Given the description of an element on the screen output the (x, y) to click on. 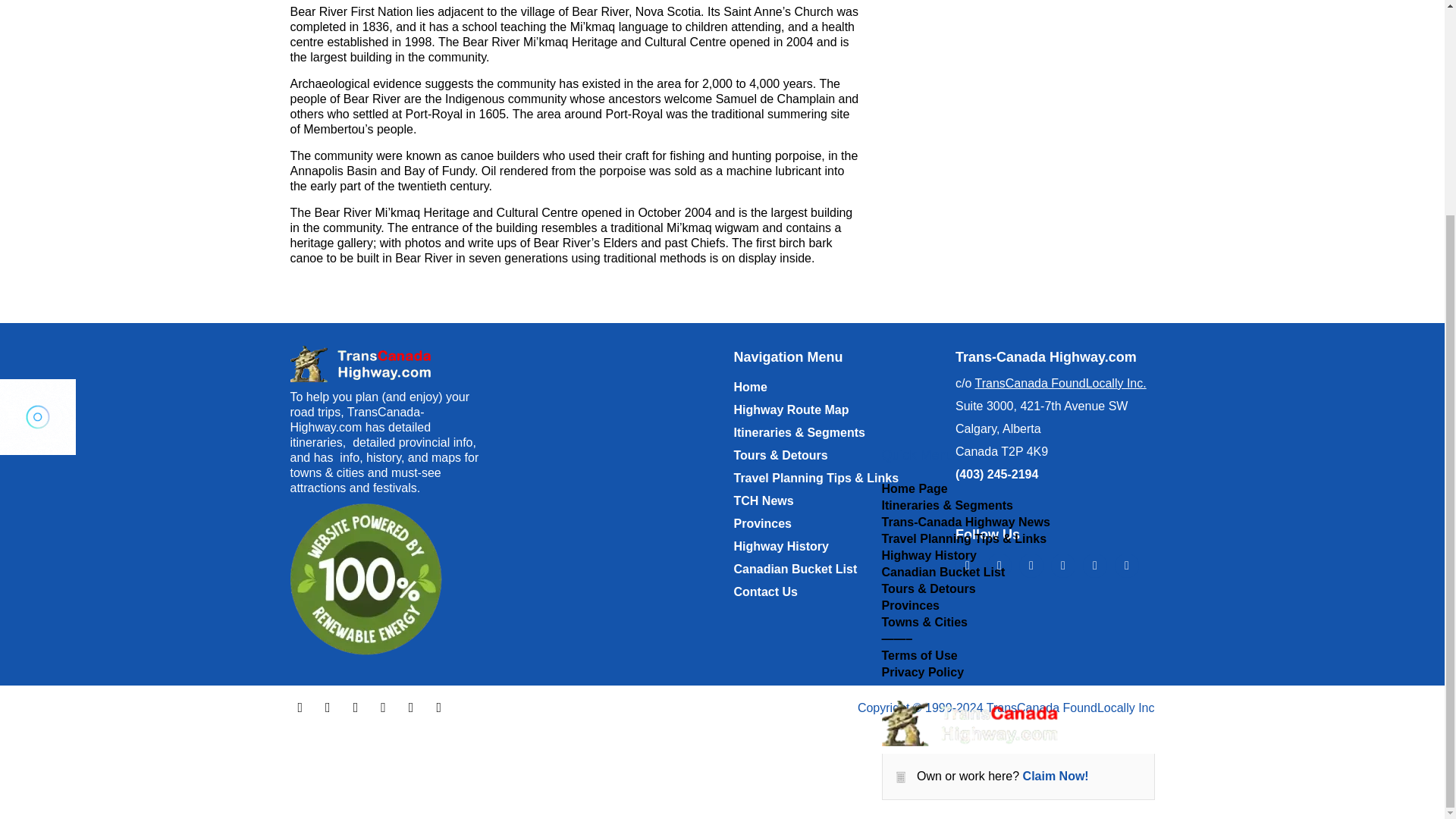
LinkedIn (411, 707)
Pinterest (438, 707)
LinkedIn (1094, 564)
YouTube (1063, 564)
YouTube (382, 707)
Pinterst (1126, 564)
Facebook (967, 564)
Facebook (299, 707)
Trans-Canada Highway.com please wait to load (37, 134)
Instagram (356, 707)
Instagram (1031, 565)
CLICK to go to TransCanadaHighway.com home page (365, 363)
